Given the description of an element on the screen output the (x, y) to click on. 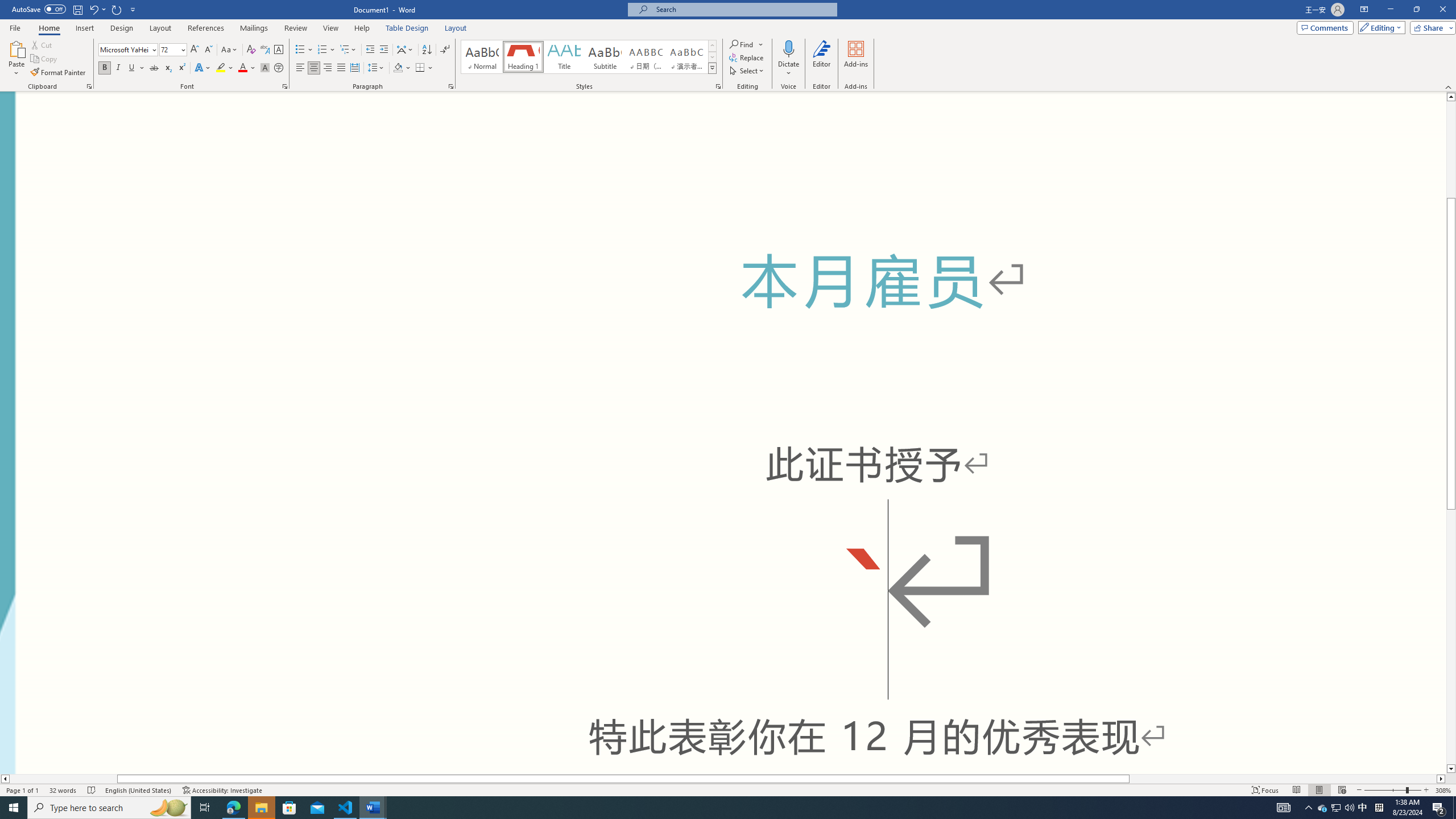
Line up (1450, 96)
Page down (1450, 636)
Table Design (407, 28)
Dictate (788, 58)
View (330, 28)
Italic (118, 67)
Strikethrough (154, 67)
Bold (104, 67)
Minimize (1390, 9)
Text Highlight Color Yellow (220, 67)
Distributed (354, 67)
Comments (1325, 27)
Page left (63, 778)
